Given the description of an element on the screen output the (x, y) to click on. 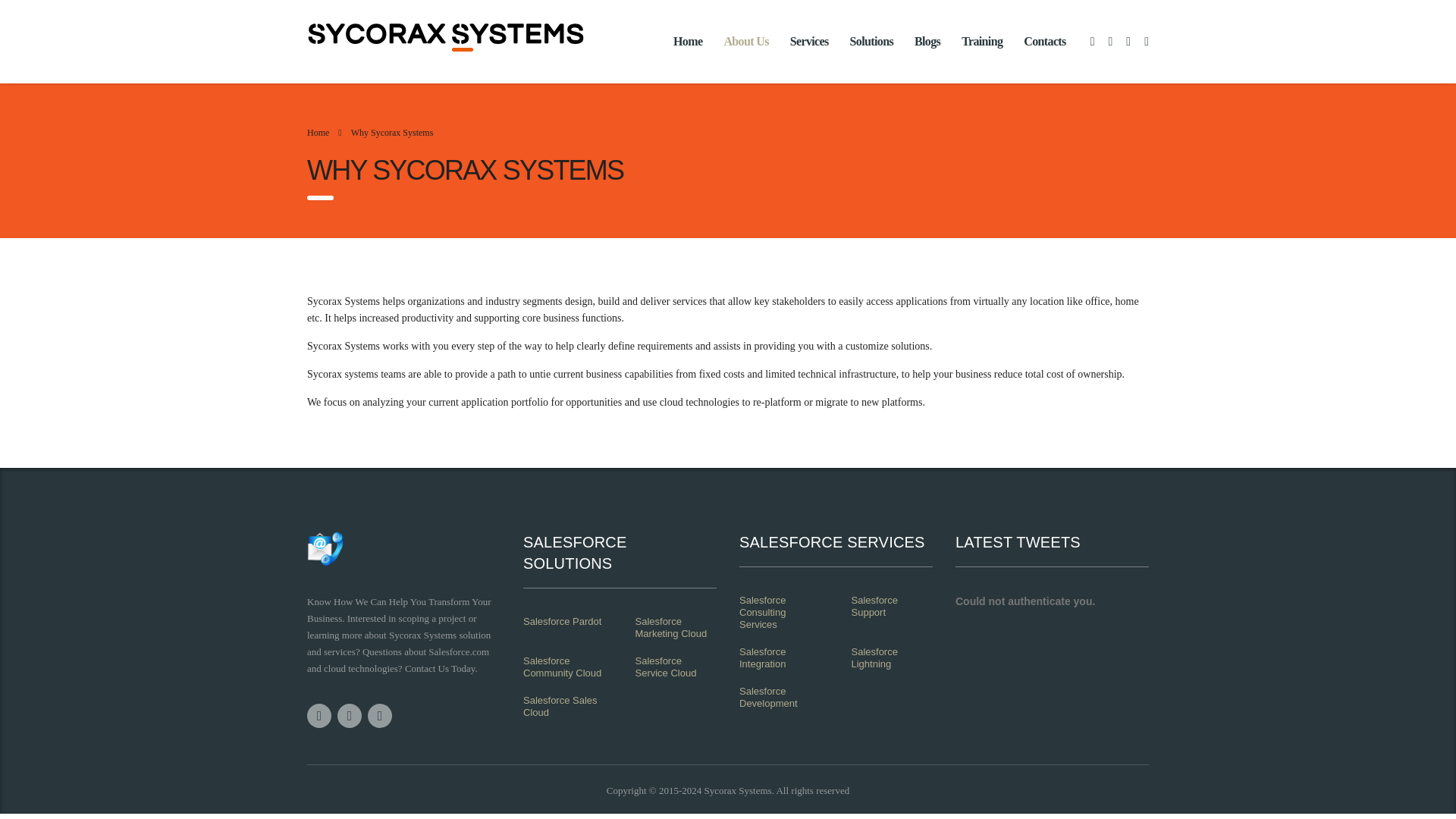
Services (809, 41)
About Us (745, 41)
Home (687, 41)
Training (981, 41)
Blogs (927, 41)
Go to Sycorax Systems. (318, 132)
Solutions (872, 41)
